Given the description of an element on the screen output the (x, y) to click on. 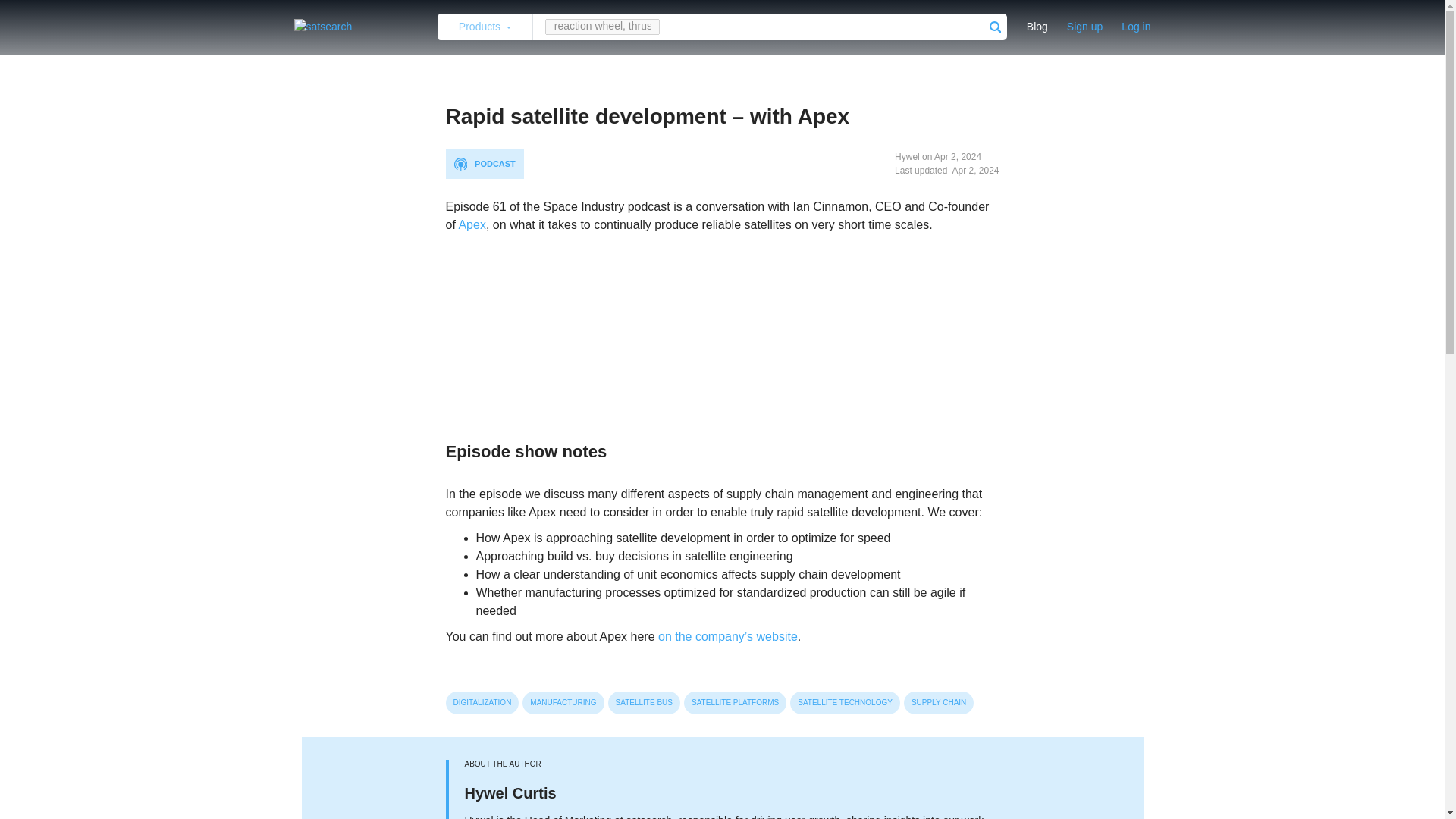
Log in (1136, 26)
Sign up (1084, 26)
Blog (1037, 26)
Apex (471, 224)
Products (485, 26)
PODCAST (484, 163)
